Given the description of an element on the screen output the (x, y) to click on. 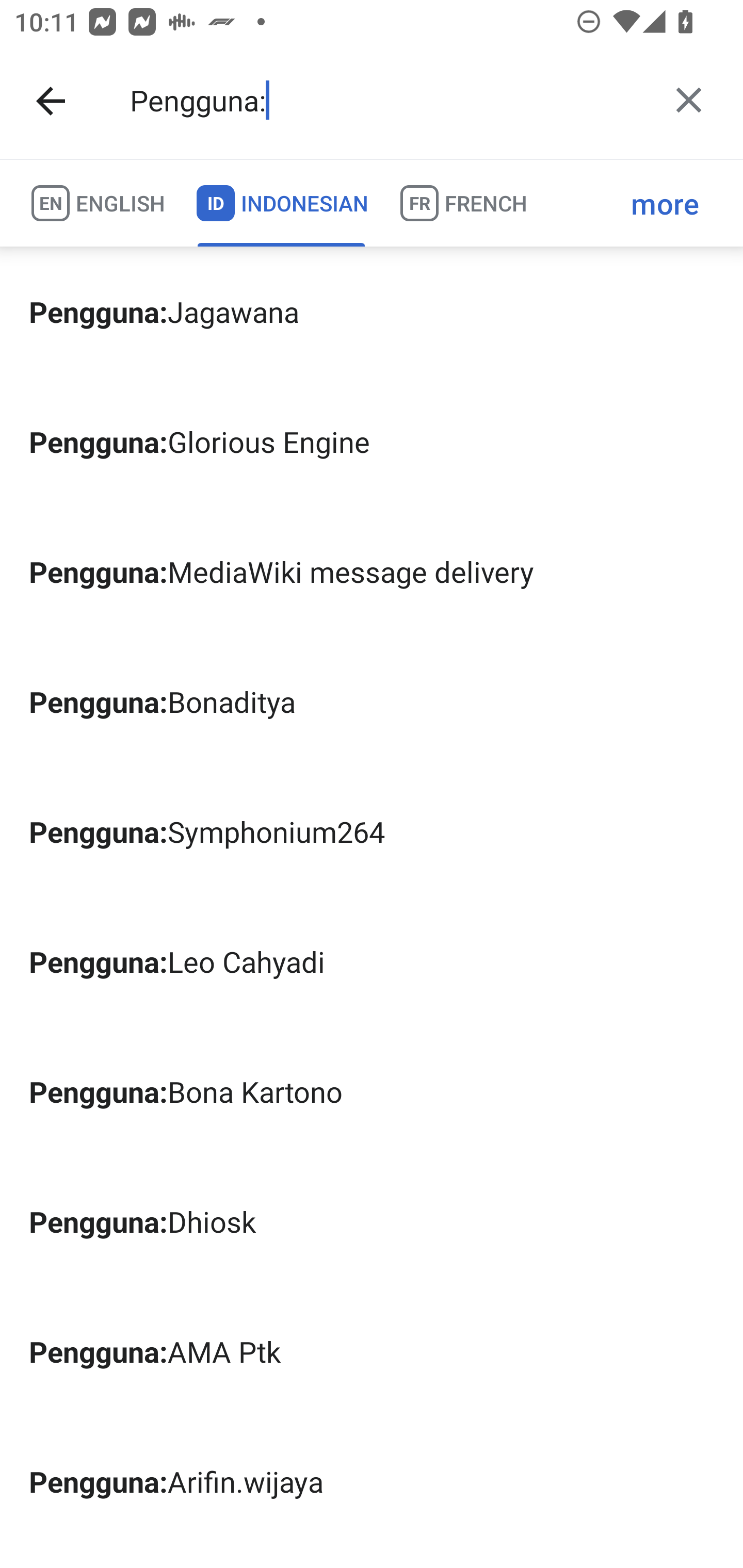
Navigate up (50, 101)
Pengguna: (383, 100)
Clear query (688, 99)
EN ENGLISH (96, 202)
FR FRENCH (462, 202)
more (664, 202)
Pengguna:Jagawana (371, 311)
Pengguna:Glorious Engine (371, 441)
Pengguna:MediaWiki message delivery (371, 571)
Pengguna:Bonaditya (371, 701)
Pengguna:Symphonium264 (371, 831)
Pengguna:Leo Cahyadi (371, 961)
Pengguna:Bona Kartono (371, 1092)
Pengguna:Dhiosk (371, 1221)
Pengguna:AMA Ptk (371, 1350)
Pengguna:Arifin.wijaya (371, 1480)
